Given the description of an element on the screen output the (x, y) to click on. 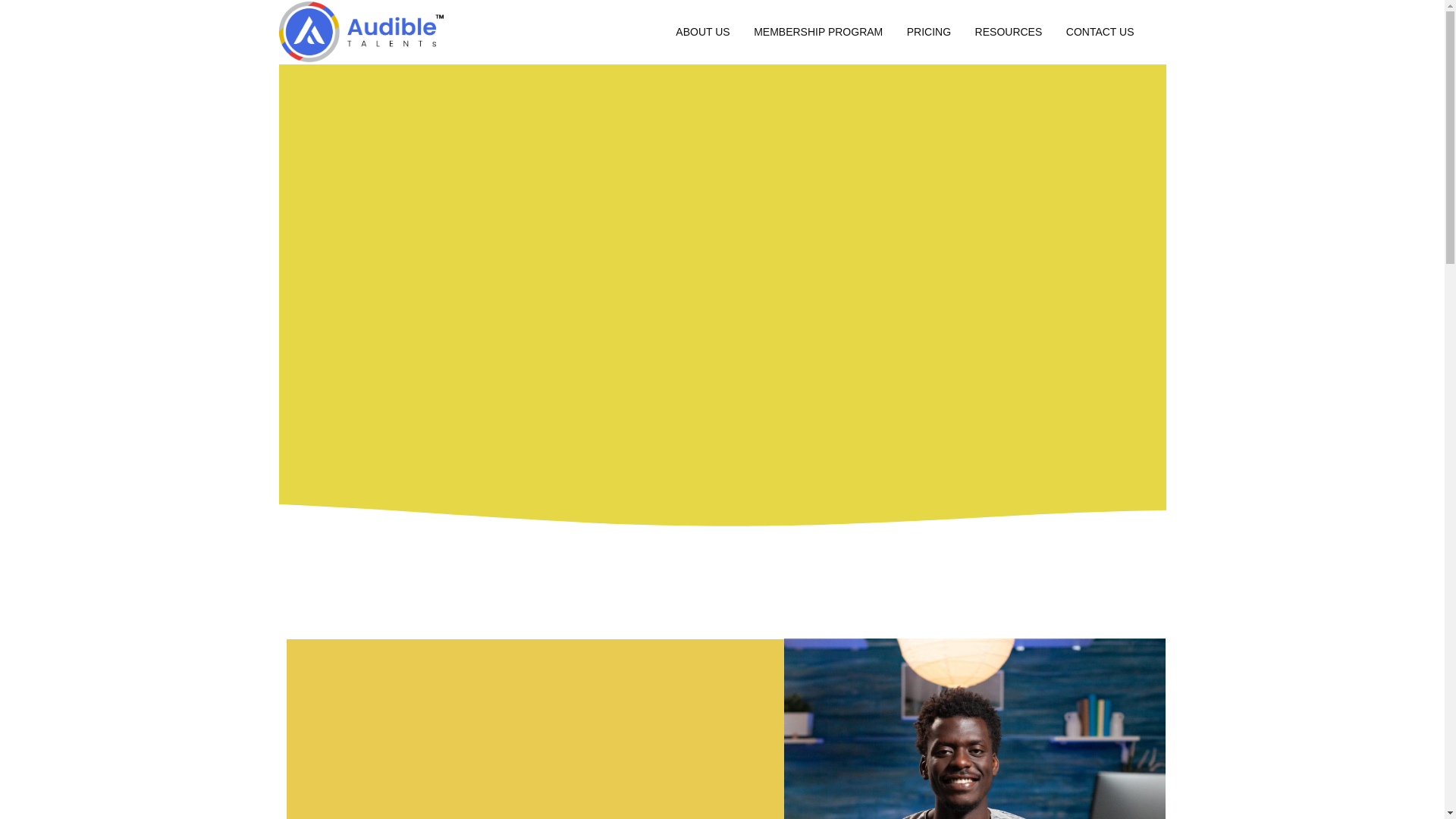
PRICING (931, 31)
RESOURCES (1011, 31)
ABOUT US (705, 31)
CONTACT US (1102, 31)
MEMBERSHIP PROGRAM (820, 31)
